Given the description of an element on the screen output the (x, y) to click on. 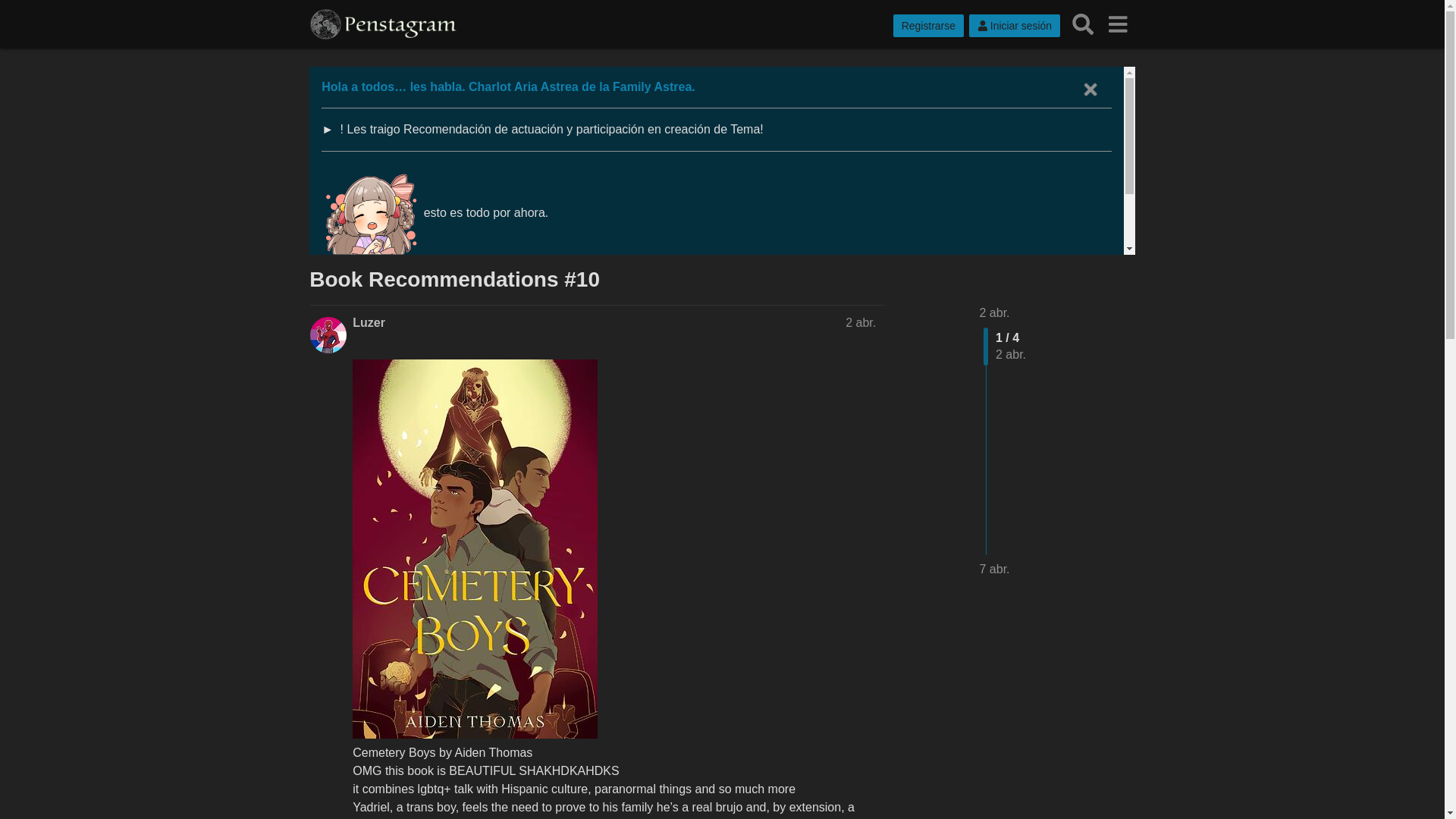
Luzer (368, 322)
7 abr. (994, 569)
Registrarse (928, 25)
2 abr. (994, 312)
2 abr. (860, 322)
Descartar este banner (1090, 88)
2 abr. (994, 312)
7 abr. 2024 06:56 (994, 568)
Buscar (1082, 23)
